Given the description of an element on the screen output the (x, y) to click on. 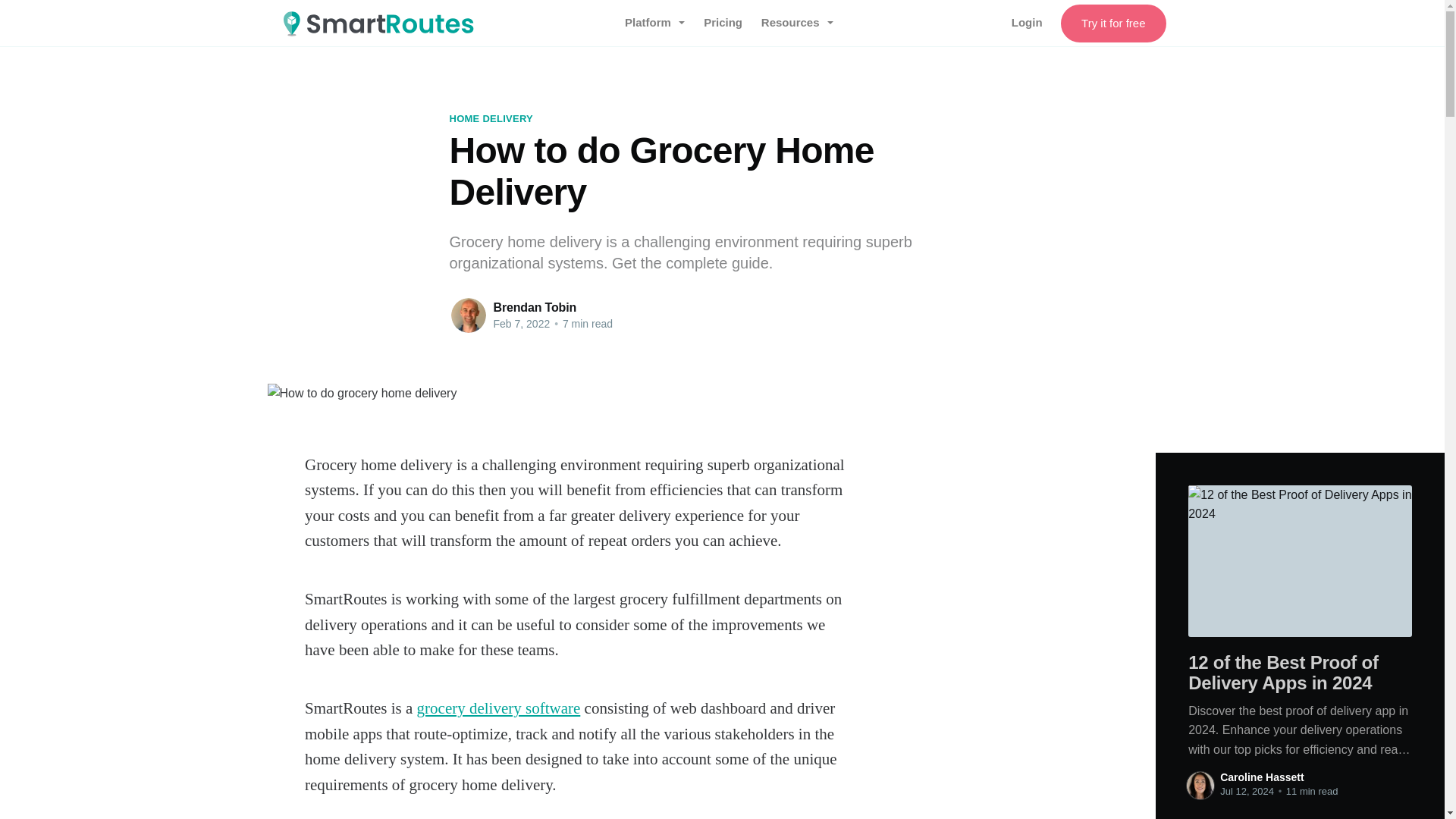
Caroline Hassett (1261, 776)
Try it for free (1113, 23)
grocery delivery software (498, 708)
Brendan Tobin (534, 307)
Platform (654, 22)
HOME DELIVERY (490, 119)
Login (1026, 22)
Pricing (722, 22)
Resources (797, 22)
